Given the description of an element on the screen output the (x, y) to click on. 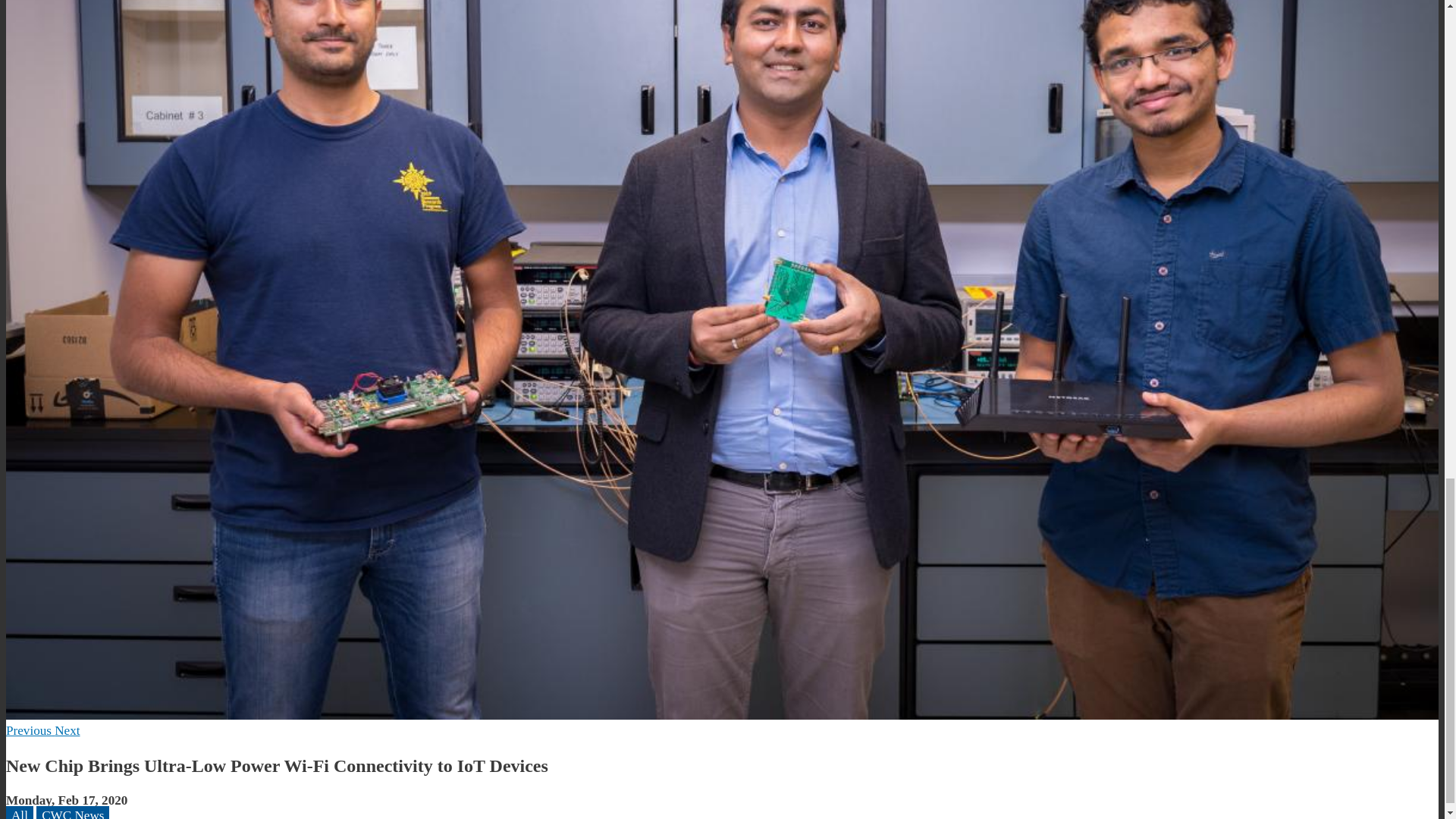
Previous (30, 730)
Next (67, 730)
